Given the description of an element on the screen output the (x, y) to click on. 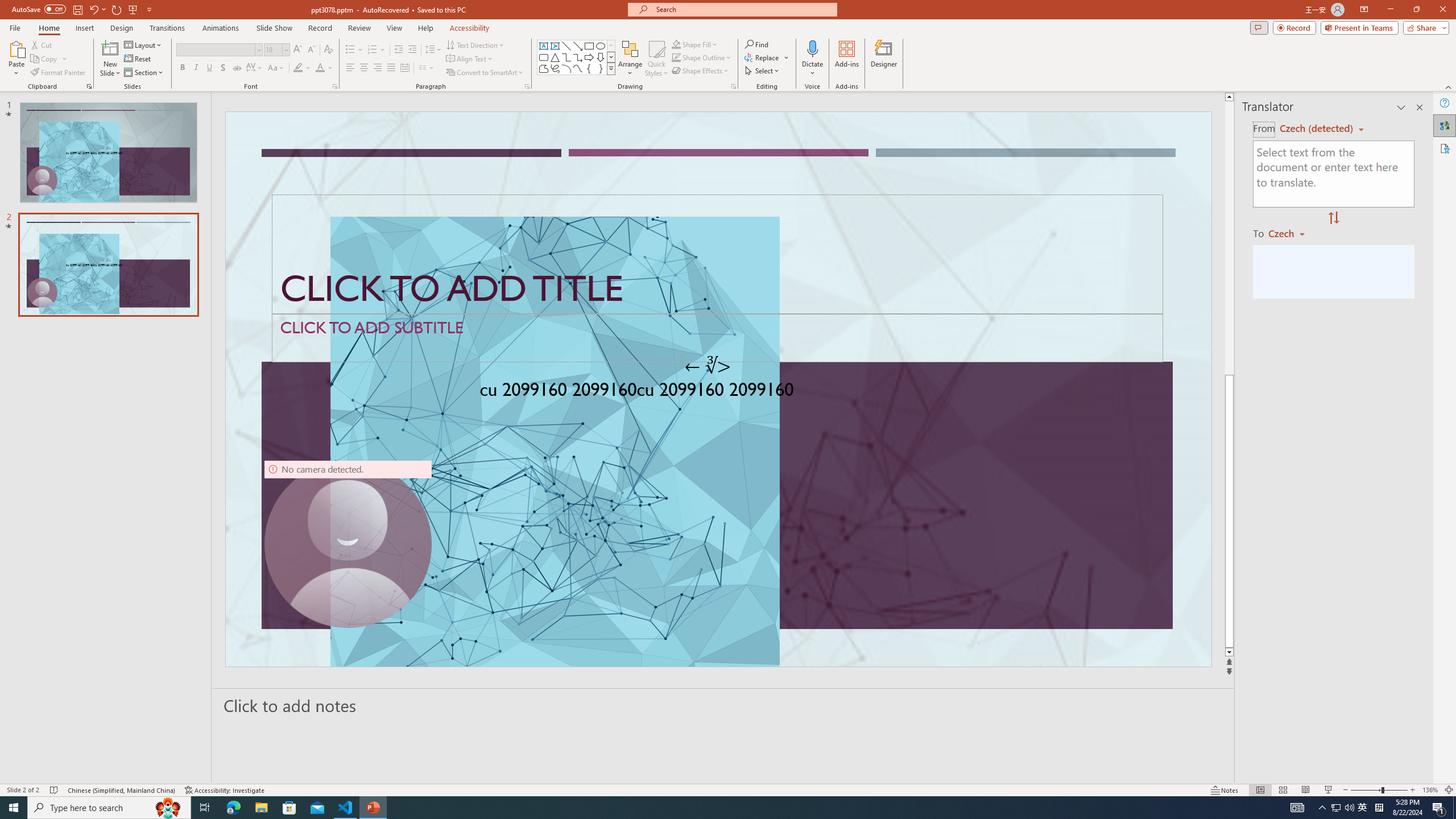
Swap "from" and "to" languages. (1333, 218)
TextBox 7 (707, 366)
Czech (1291, 232)
